Given the description of an element on the screen output the (x, y) to click on. 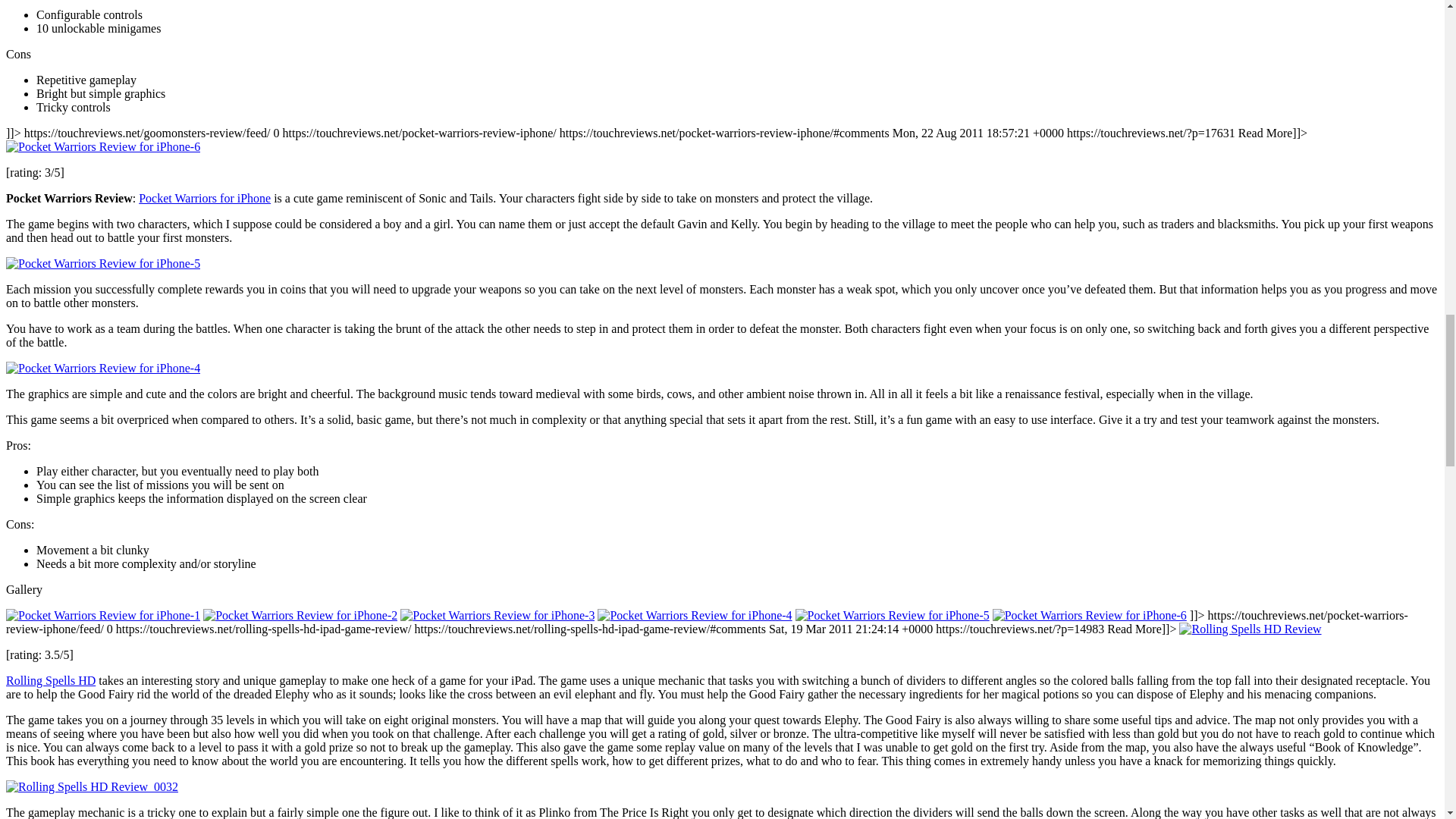
Rolling Spells HD Review (1249, 629)
Pocket Warriors Review for iPhone-4 (102, 368)
Rolling Spells HD (50, 680)
Pocket Warriors for iPhone (204, 197)
Pocket Warriors Review for iPhone-5 (102, 264)
Pocket Warriors for iPhone (204, 197)
Pocket Warriors Review for iPhone-6 (102, 146)
